Given the description of an element on the screen output the (x, y) to click on. 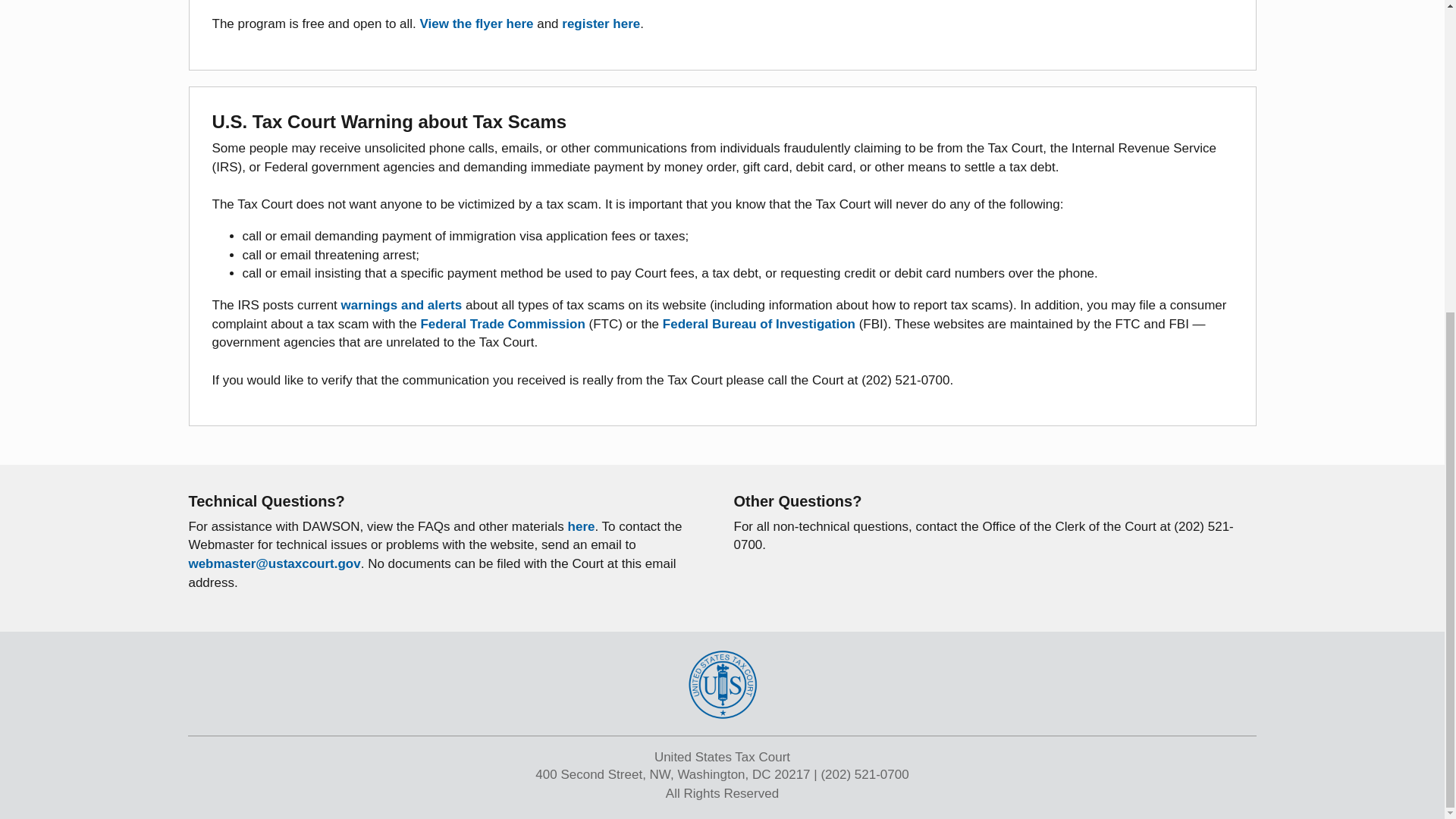
Report Fraud (504, 323)
DAWSON (581, 526)
Contact Webmaster (273, 563)
Petition Generator Webinar Flyer (477, 23)
Redirect IRS Scams (401, 305)
Report Fraud (759, 323)
Petition Generator Webinar Registration (601, 23)
